Given the description of an element on the screen output the (x, y) to click on. 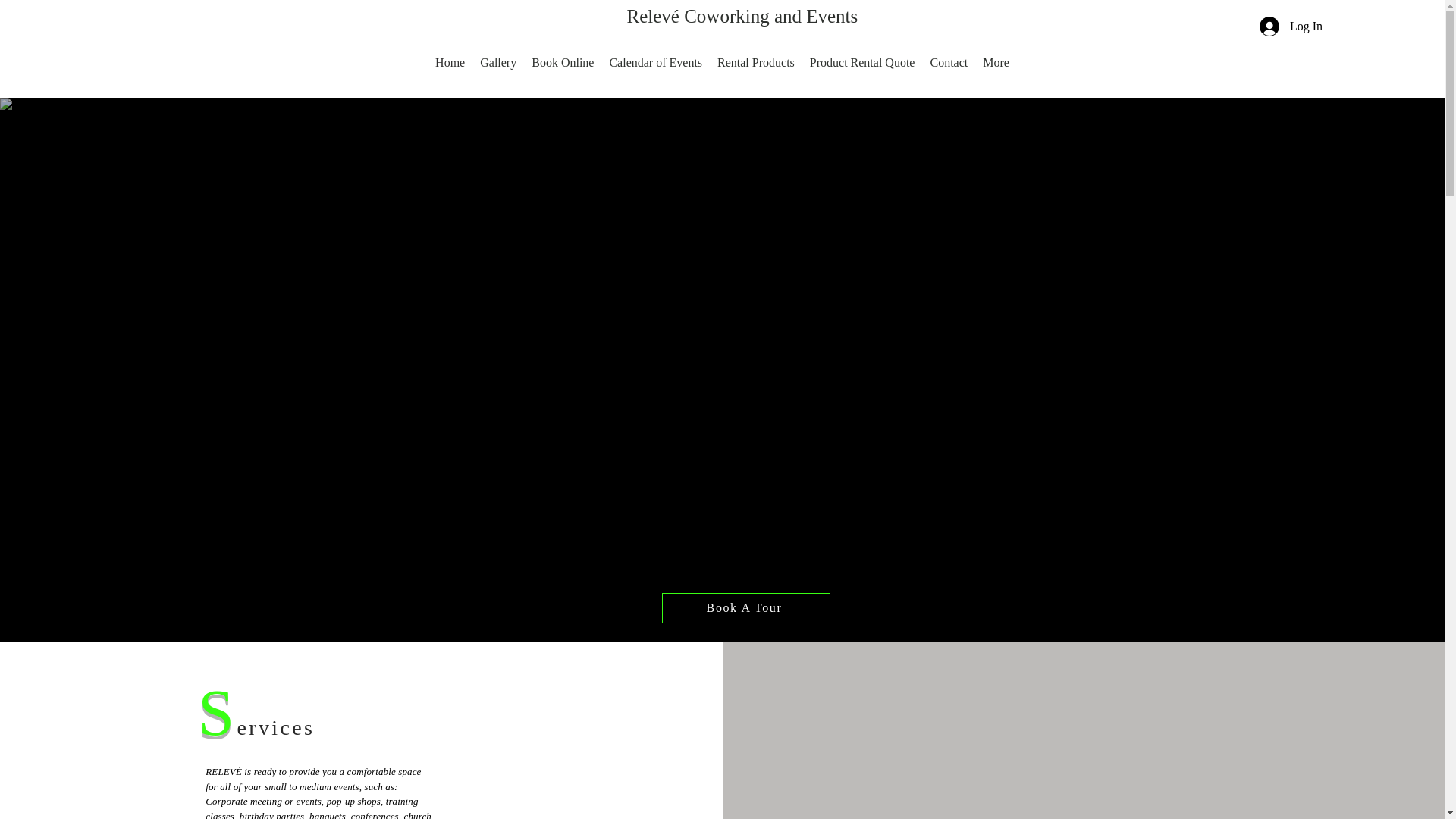
Rental Products (756, 73)
Book A Tour (745, 607)
Product Rental Quote (862, 73)
Log In (1291, 26)
Home (449, 73)
Contact (948, 73)
Gallery (497, 73)
Calendar of Events (655, 73)
Book Online (562, 73)
